Given the description of an element on the screen output the (x, y) to click on. 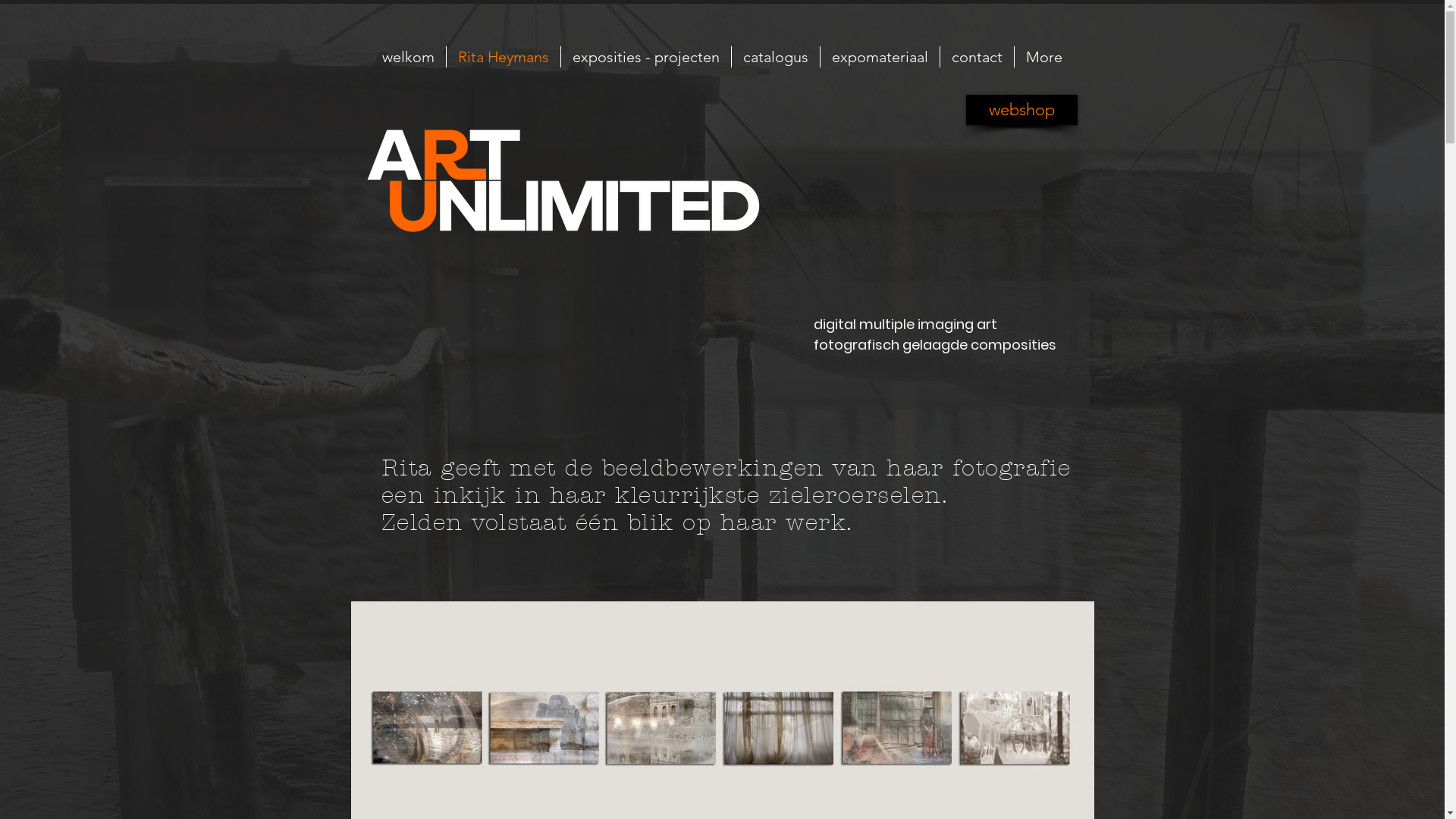
contact Element type: text (975, 57)
exposities - projecten Element type: text (644, 57)
welkom Element type: text (407, 57)
expomateriaal Element type: text (878, 57)
catalogus Element type: text (775, 57)
webshop Element type: text (1021, 109)
Rita Heymans Element type: text (502, 57)
